Given the description of an element on the screen output the (x, y) to click on. 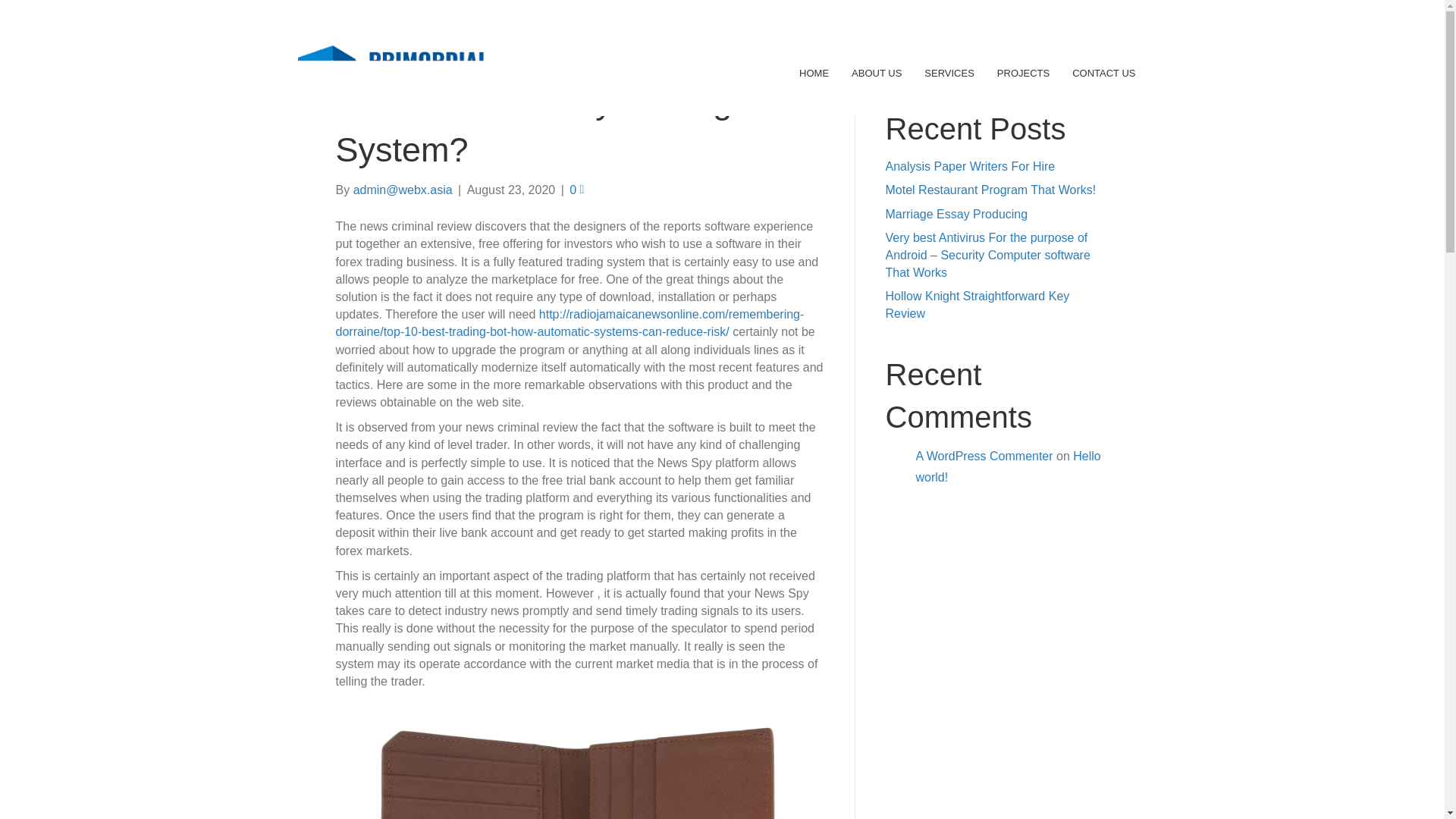
Hollow Knight Straightforward Key Review (977, 304)
HOME (813, 72)
Search (1081, 63)
CONTACT US (1103, 72)
Analysis Paper Writers For Hire (970, 165)
ABOUT US (876, 72)
primordial-logo (391, 72)
0 (576, 189)
Marriage Essay Producing (956, 214)
PROJECTS (1023, 72)
Motel Restaurant Program That Works! (990, 189)
Hello world! (1007, 466)
A WordPress Commenter (983, 455)
SERVICES (949, 72)
